Given the description of an element on the screen output the (x, y) to click on. 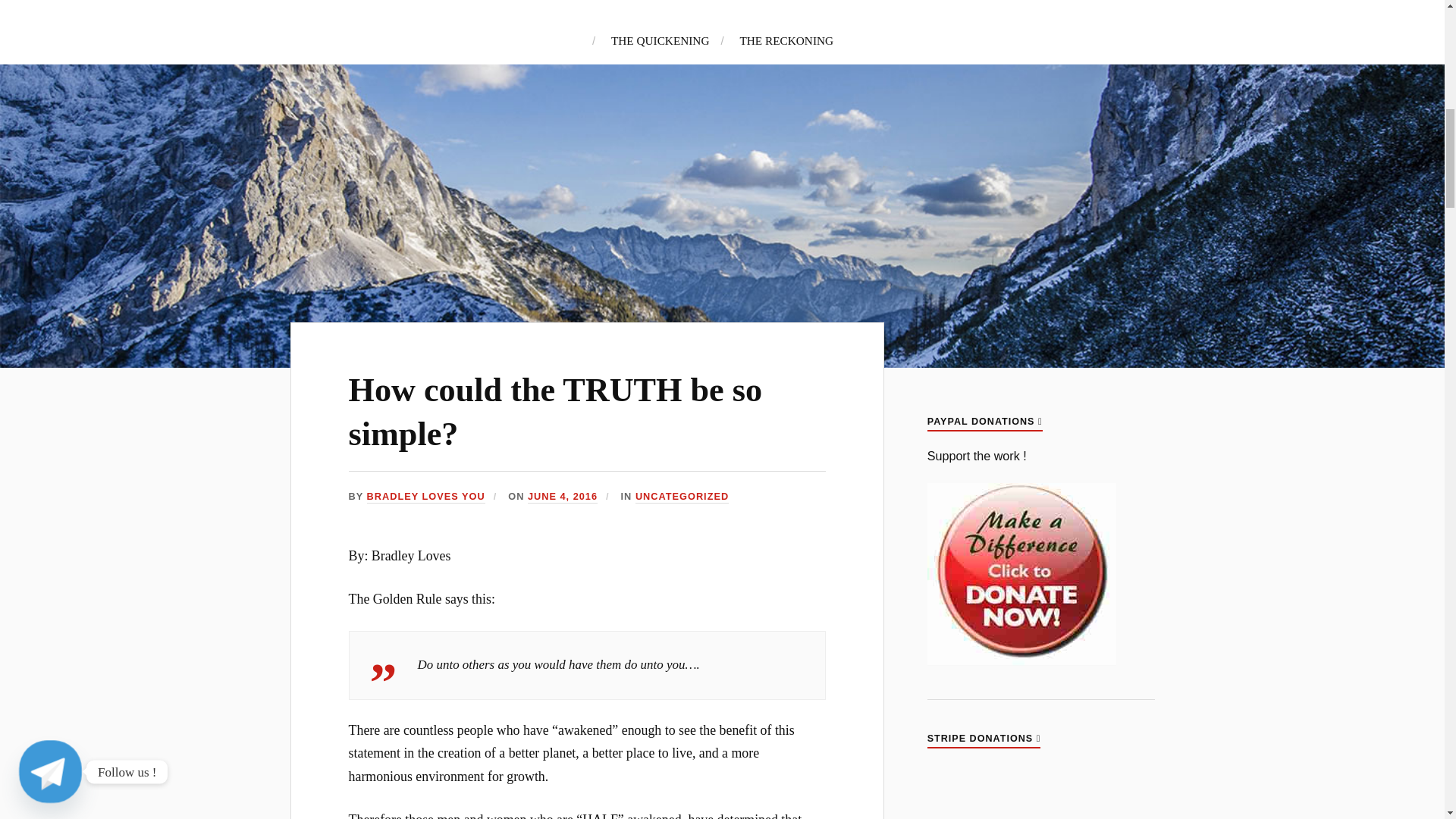
Posts by Bradley Loves You (425, 496)
